Given the description of an element on the screen output the (x, y) to click on. 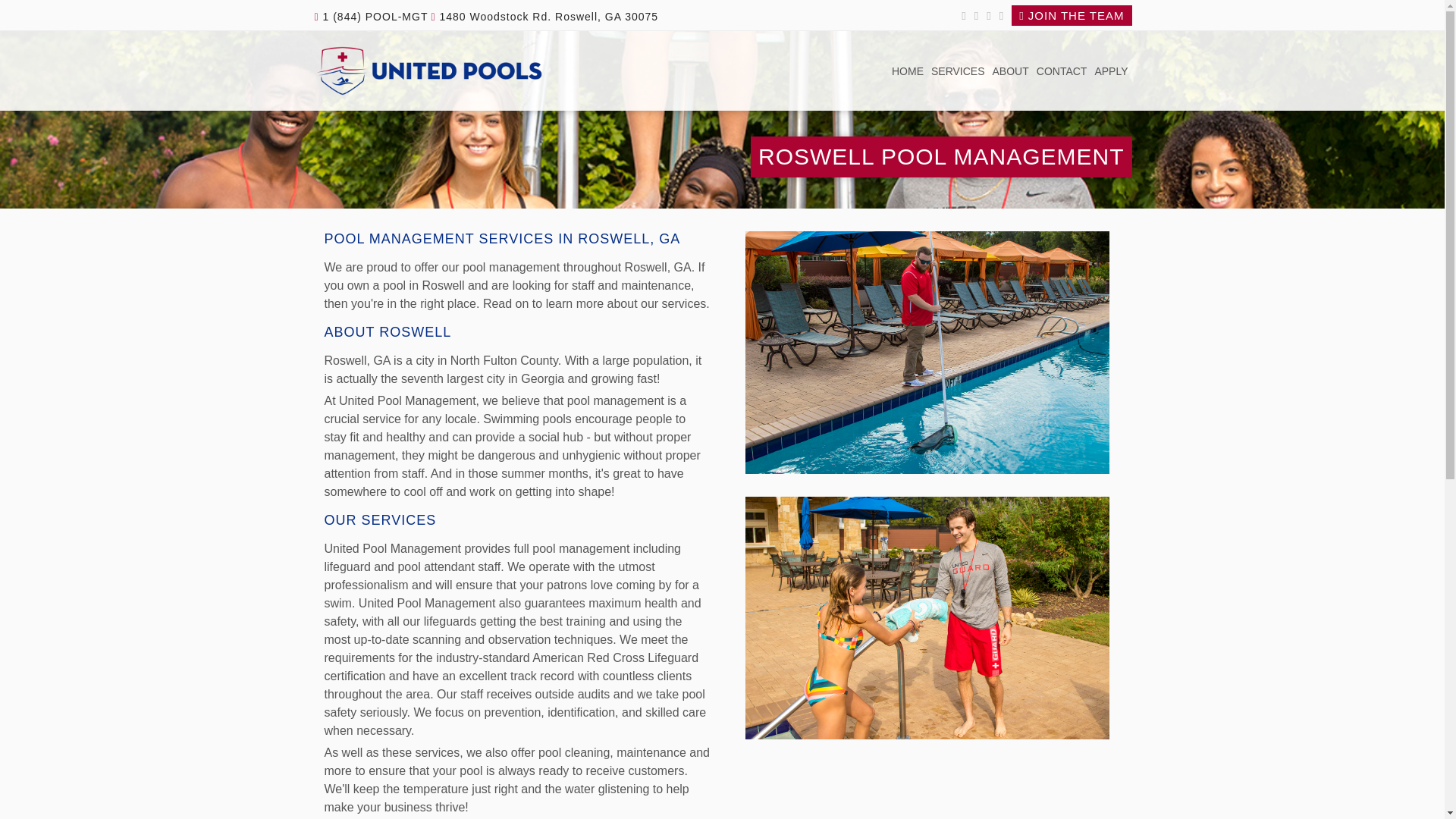
1480 Woodstock Rd. Roswell, GA 30075 (544, 16)
JOIN THE TEAM (1071, 14)
APPLY (1110, 71)
HOME (907, 71)
CONTACT (1061, 71)
SERVICES (957, 71)
ABOUT (1010, 71)
